Given the description of an element on the screen output the (x, y) to click on. 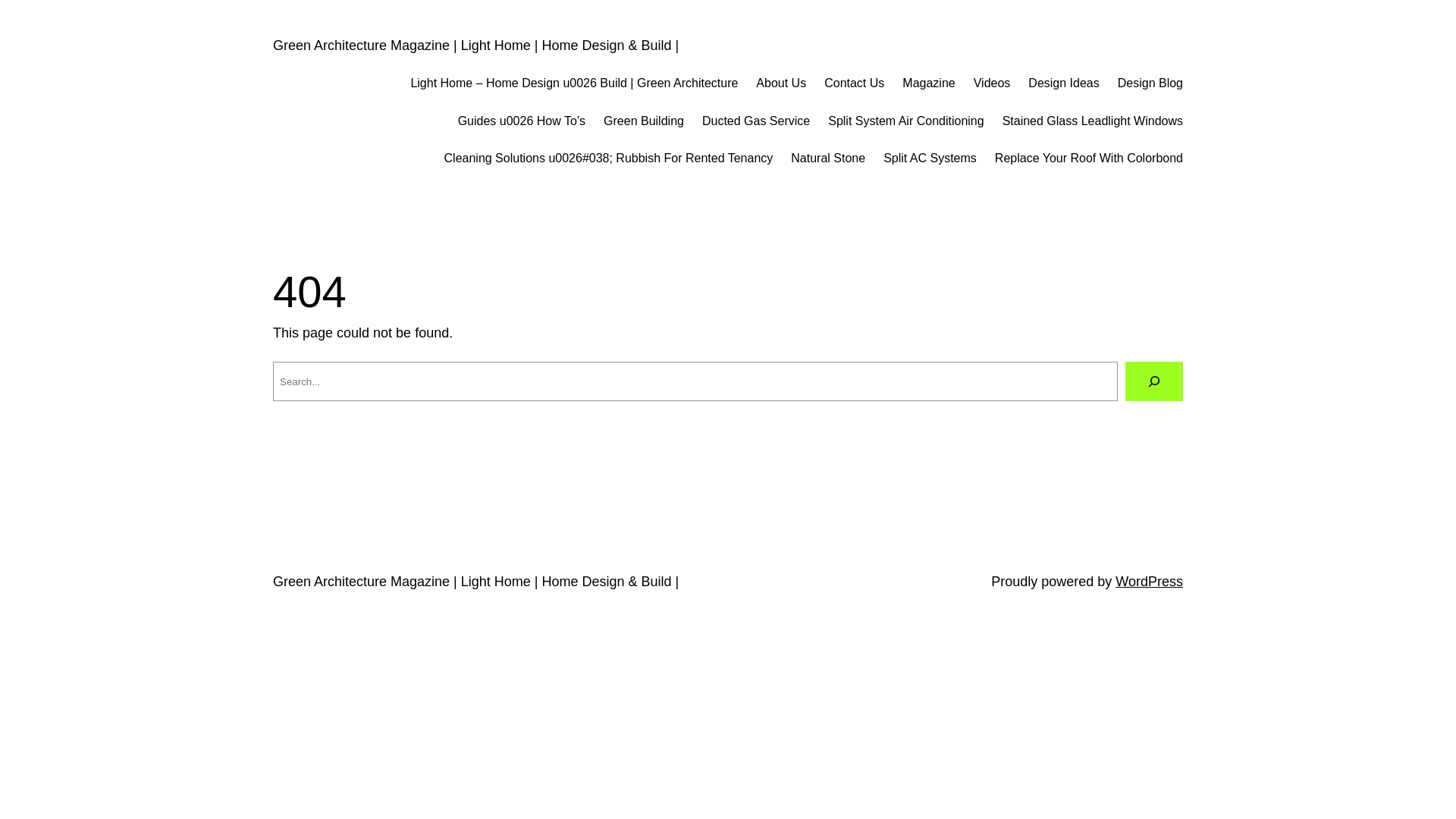
Design Ideas Element type: text (1063, 83)
Design Blog Element type: text (1150, 83)
Stained Glass Leadlight Windows Element type: text (1092, 121)
Green Building Element type: text (643, 121)
Split System Air Conditioning Element type: text (905, 121)
Videos Element type: text (991, 83)
WordPress Element type: text (1149, 581)
Cleaning Solutions u0026#038; Rubbish For Rented Tenancy Element type: text (608, 158)
About Us Element type: text (781, 83)
Split AC Systems Element type: text (929, 158)
Contact Us Element type: text (854, 83)
Natural Stone Element type: text (827, 158)
Replace Your Roof With Colorbond Element type: text (1088, 158)
Magazine Element type: text (928, 83)
Ducted Gas Service Element type: text (755, 121)
